Given the description of an element on the screen output the (x, y) to click on. 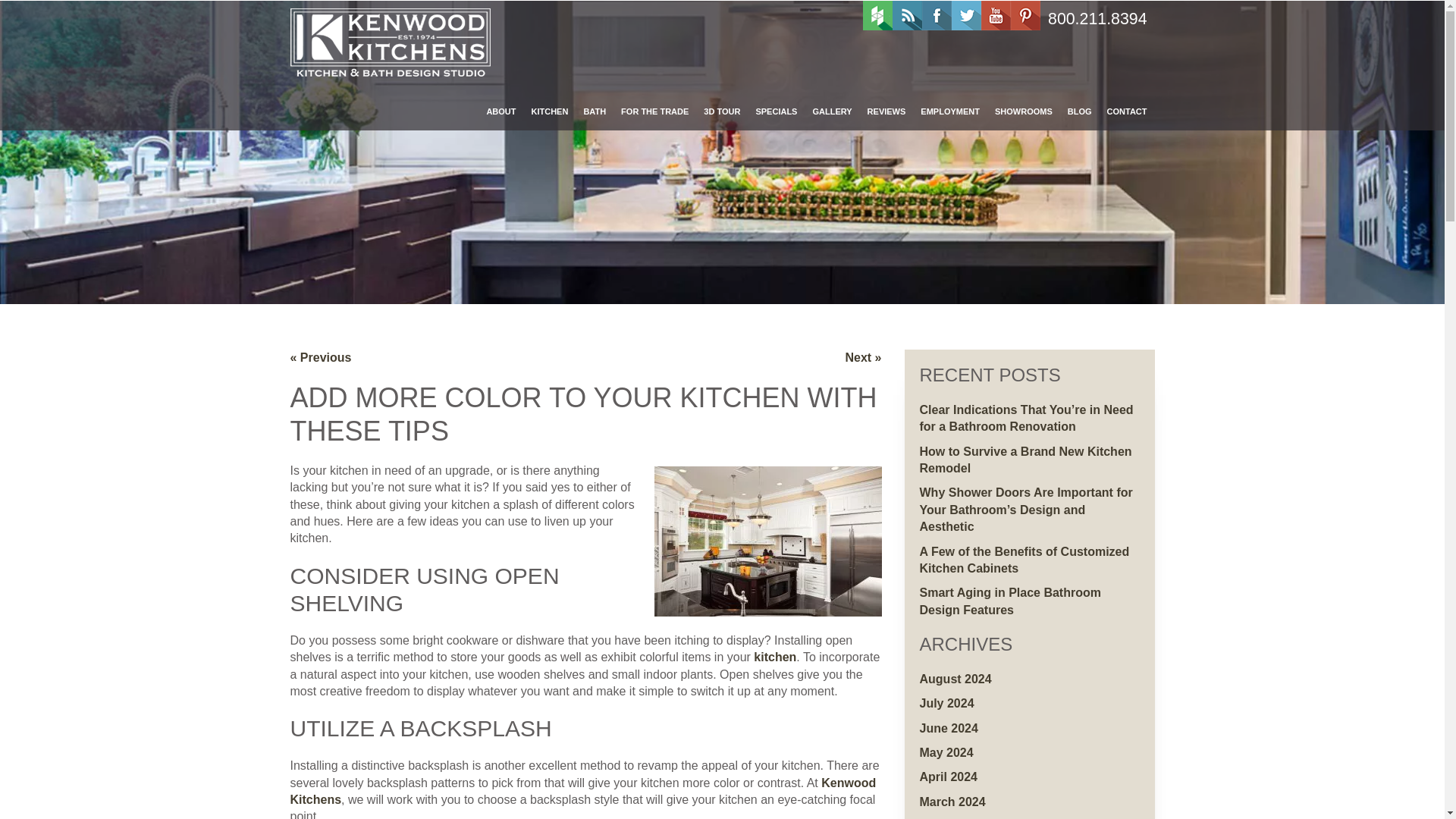
800.211.8394 (1097, 19)
Pinterest (1025, 15)
Houzz (877, 15)
3D TOUR (721, 110)
KITCHEN (548, 110)
BATH (593, 110)
Facebook (936, 15)
Twitter (966, 15)
YouTube (995, 15)
FOR THE TRADE (653, 110)
